Given the description of an element on the screen output the (x, y) to click on. 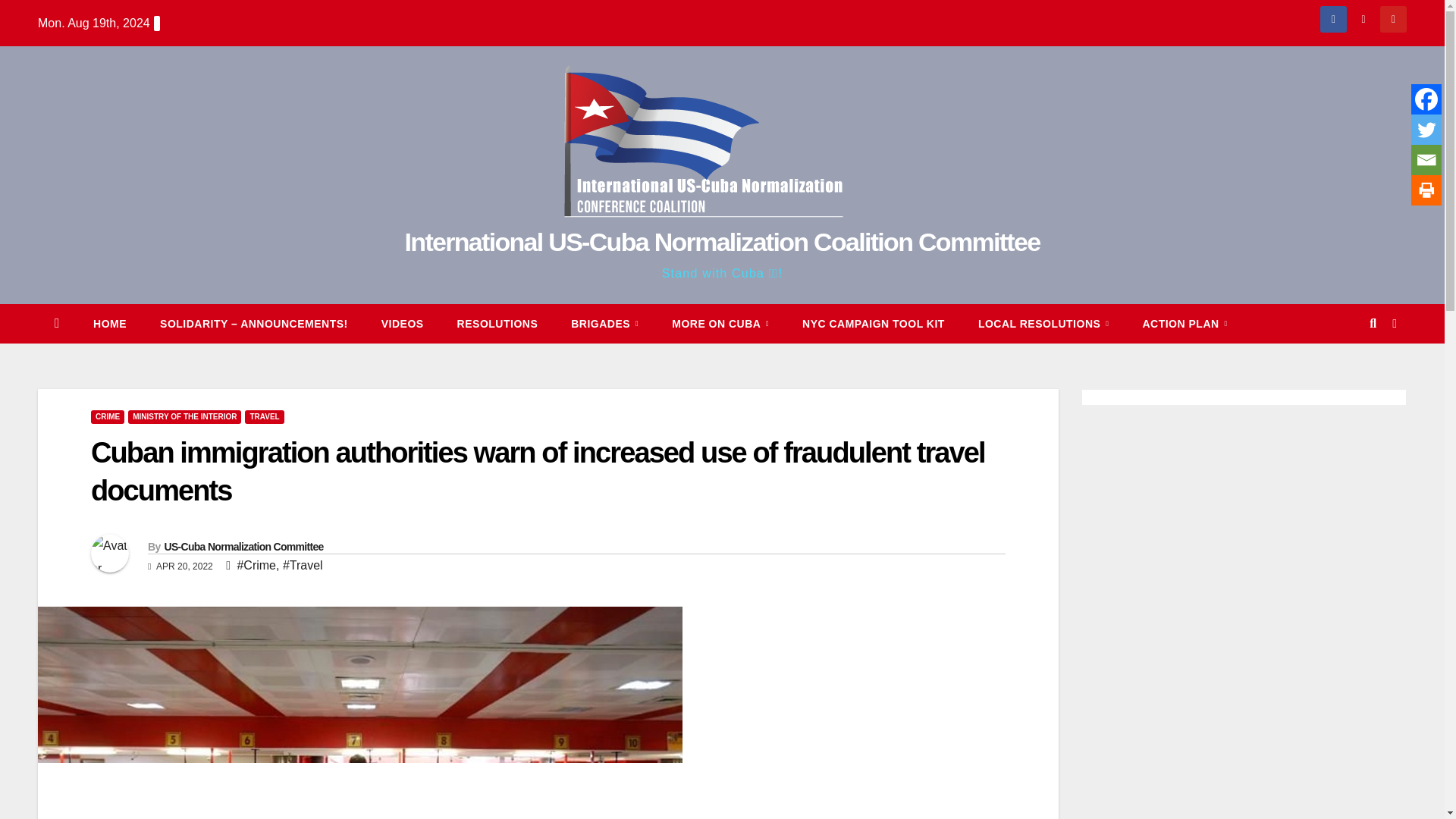
Solidarity - ANNOUNCEMENTS! (253, 323)
Home (109, 323)
ACTION PLAN (1184, 323)
BRIGADES (604, 323)
VIDEOS (403, 323)
Videos (403, 323)
MORE ON CUBA (720, 323)
RESOLUTIONS (497, 323)
HOME (109, 323)
More on Cuba (720, 323)
